Given the description of an element on the screen output the (x, y) to click on. 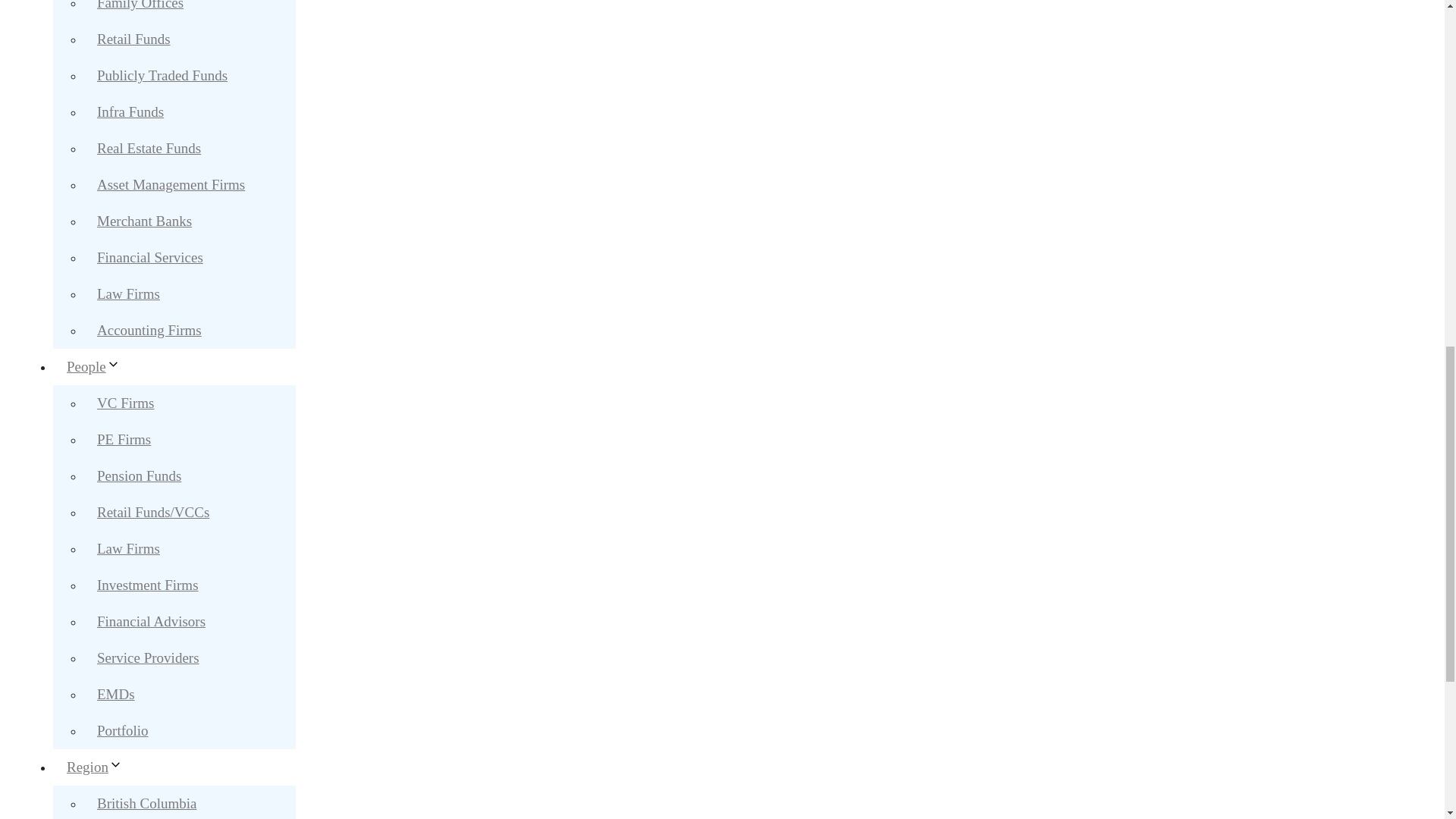
Investment Firms (147, 584)
Retail Funds (133, 39)
Law Firms (127, 548)
Asset Management Firms (170, 184)
VC Firms (125, 402)
Publicly Traded Funds (161, 75)
EMDs (115, 694)
PE Firms (123, 439)
Pension Funds (138, 475)
People (100, 366)
